Given the description of an element on the screen output the (x, y) to click on. 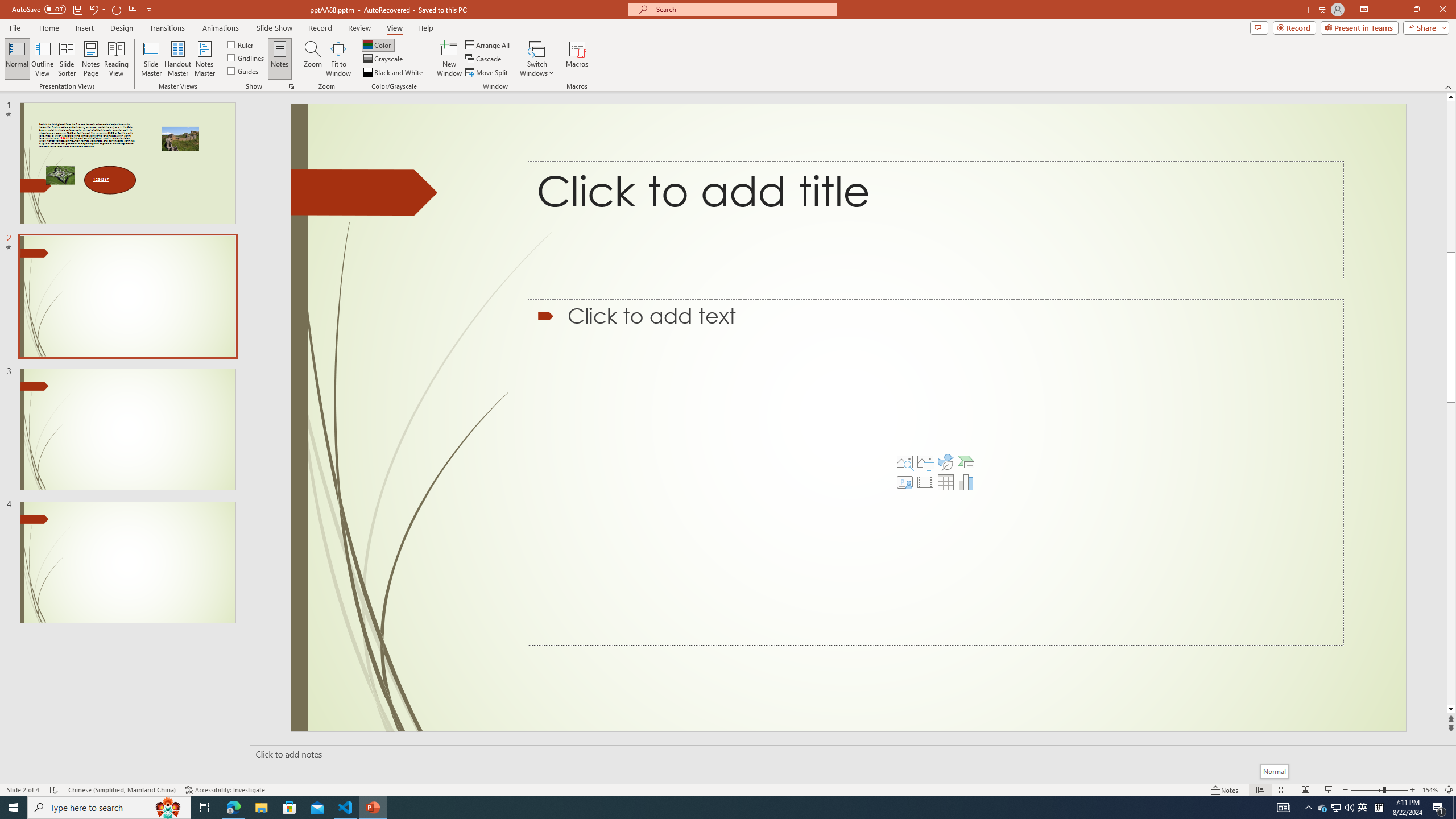
Gridlines (246, 56)
Guides (243, 69)
Macros (576, 58)
Insert a SmartArt Graphic (965, 461)
